Given the description of an element on the screen output the (x, y) to click on. 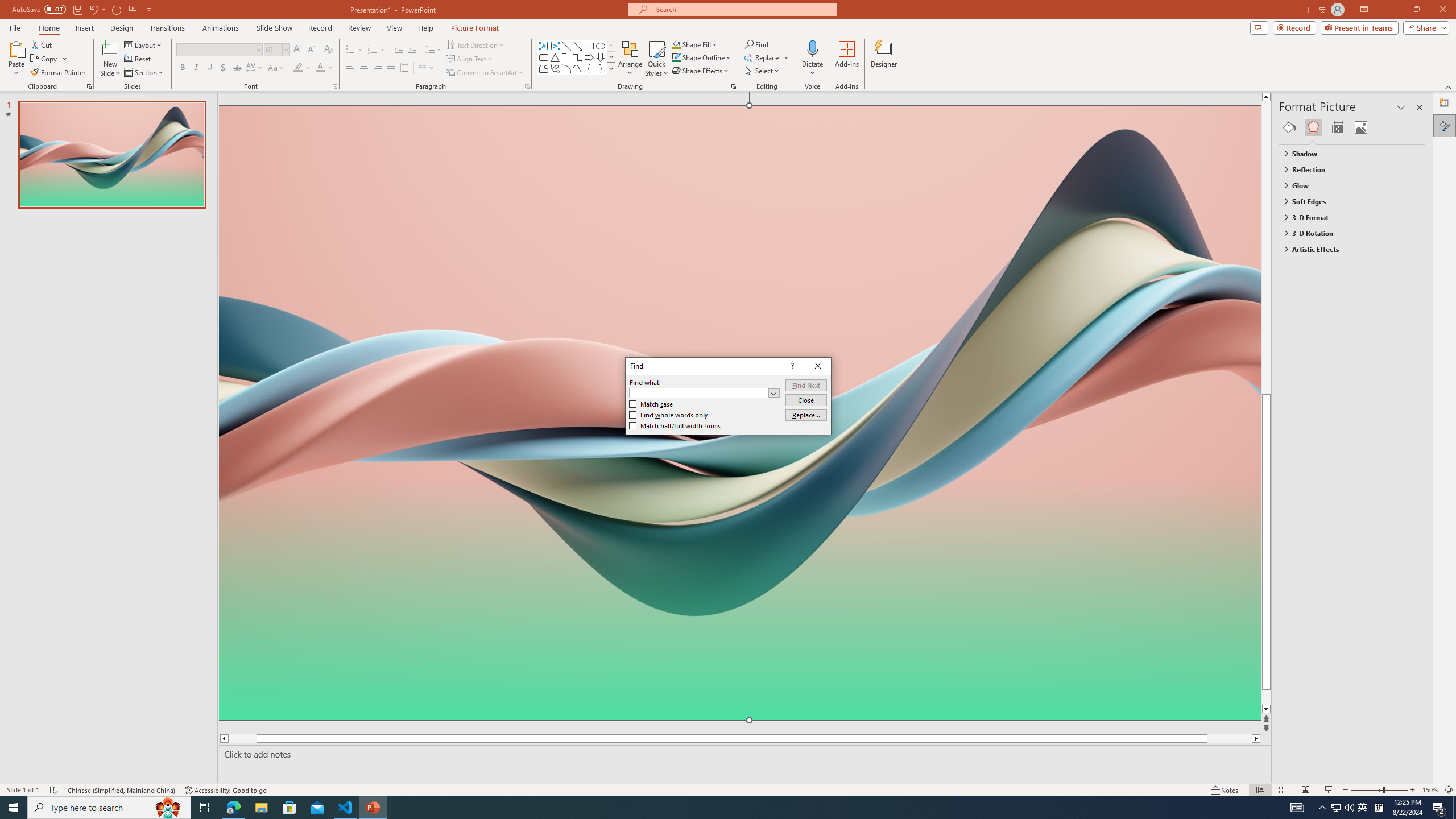
Freeform: Shape (543, 68)
AutoSave (38, 9)
Line up (1287, 96)
Customize Quick Access Toolbar (149, 9)
Present in Teams (1359, 27)
Freeform: Scribble (554, 68)
Redo (117, 9)
Font Size (273, 49)
Match case (651, 403)
Dictate (812, 48)
Glow (1347, 185)
Line Arrow (577, 45)
Minimize (1390, 9)
